Given the description of an element on the screen output the (x, y) to click on. 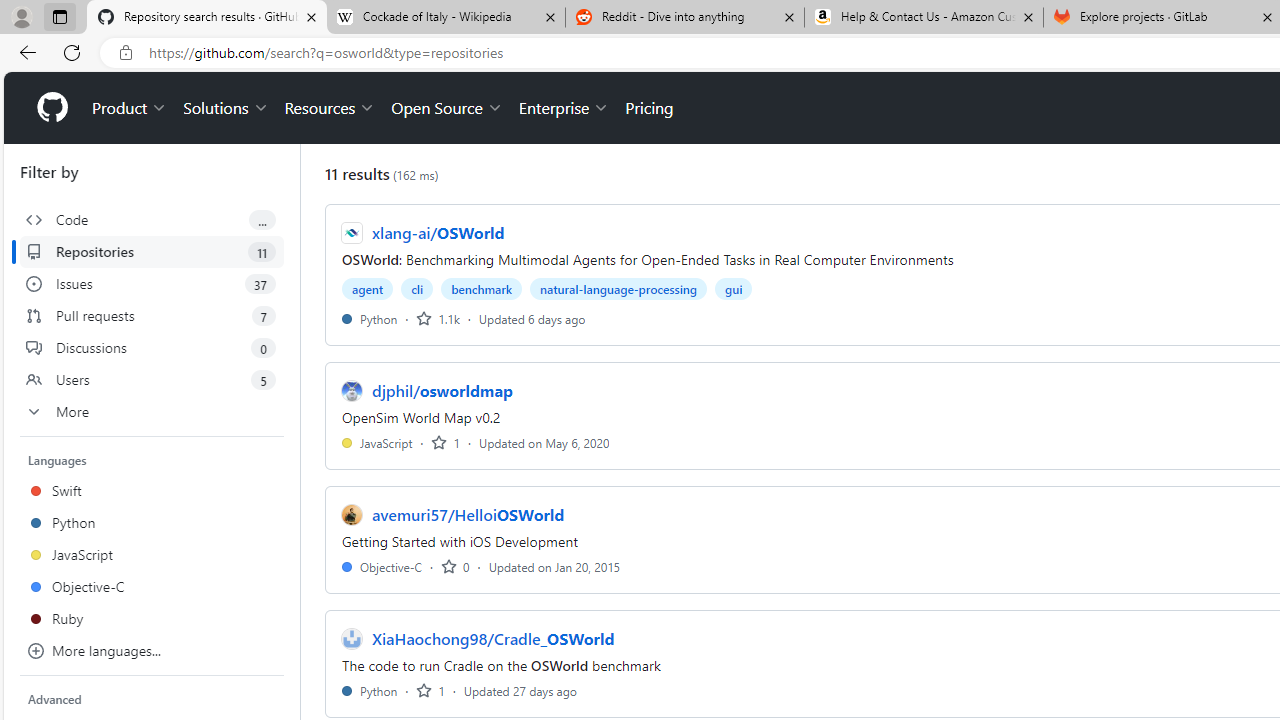
Back (24, 52)
Cockade of Italy - Wikipedia (445, 17)
Resources (330, 107)
agent (367, 288)
Objective-C (381, 566)
1 stars (430, 690)
Enterprise (563, 107)
Close tab (1267, 16)
XiaHaochong98/Cradle_OSWorld (493, 638)
djphil/osworldmap (443, 390)
View site information (125, 53)
Product (130, 107)
